Given the description of an element on the screen output the (x, y) to click on. 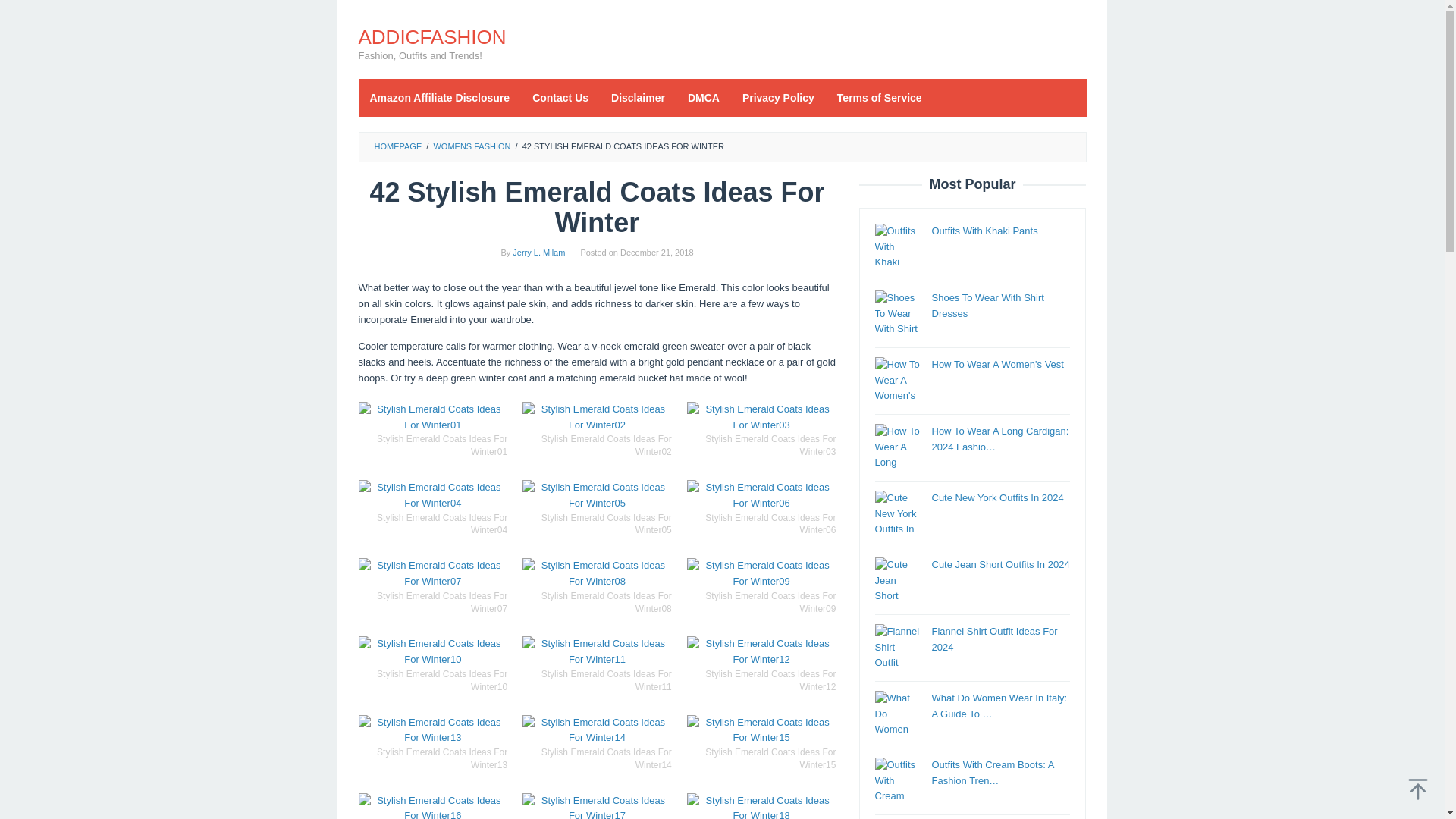
Stylish Emerald Coats Ideas For Winter01 (432, 418)
HOMEPAGE (398, 145)
ADDICFASHION (431, 36)
Stylish Emerald Coats Ideas For Winter07 (432, 573)
Permalink to: Jerry L. Milam (538, 252)
Stylish Emerald Coats Ideas For Winter02 (596, 418)
Disclaimer (638, 97)
Contact Us (560, 97)
Stylish Emerald Coats Ideas For Winter04 (432, 495)
Stylish Emerald Coats Ideas For Winter11 (596, 652)
Stylish Emerald Coats Ideas For Winter09 (761, 573)
DMCA (703, 97)
Stylish Emerald Coats Ideas For Winter05 (596, 495)
Privacy Policy (777, 97)
WOMENS FASHION (471, 145)
